Given the description of an element on the screen output the (x, y) to click on. 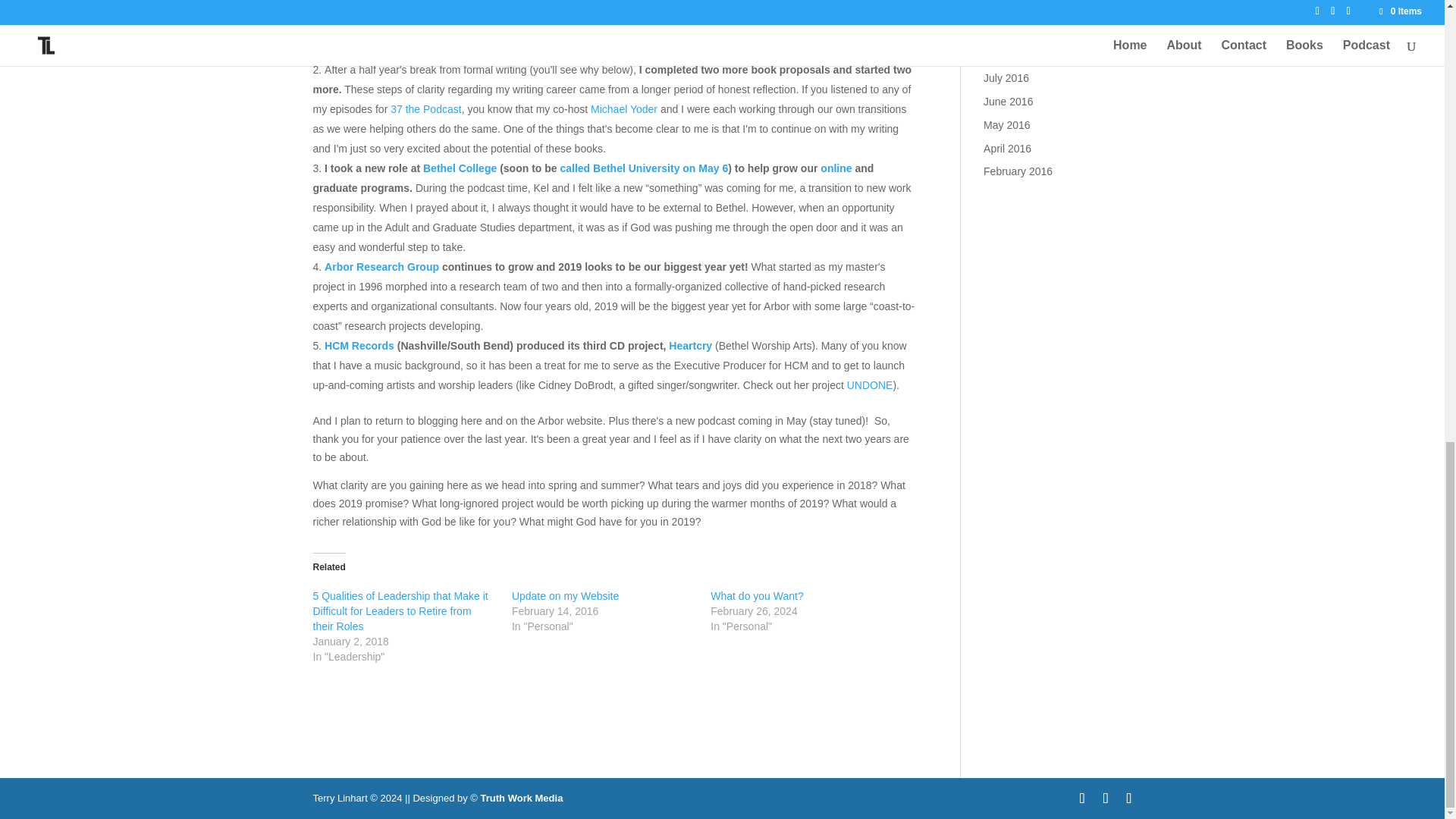
called Bethel University on May 6 (643, 168)
Heartcry (689, 345)
Arbor Research Group (381, 266)
What do you Want? (756, 595)
HCM Records (359, 345)
UNDONE (870, 385)
Update on my Website (565, 595)
What do you Want? (756, 595)
Update on my Website (565, 595)
Michael Yoder  (626, 109)
online (836, 168)
Bethel College (459, 168)
37 the Podcast (425, 109)
